Given the description of an element on the screen output the (x, y) to click on. 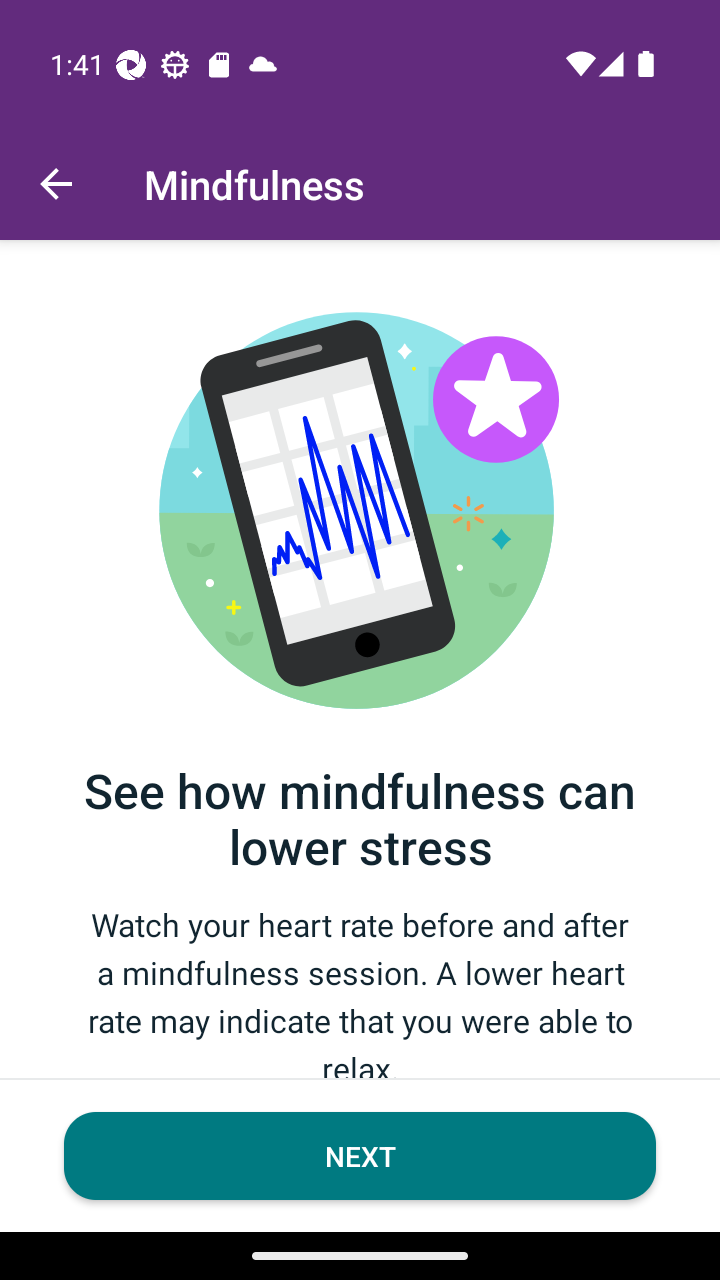
Navigate up (56, 184)
NEXT (359, 1156)
